Given the description of an element on the screen output the (x, y) to click on. 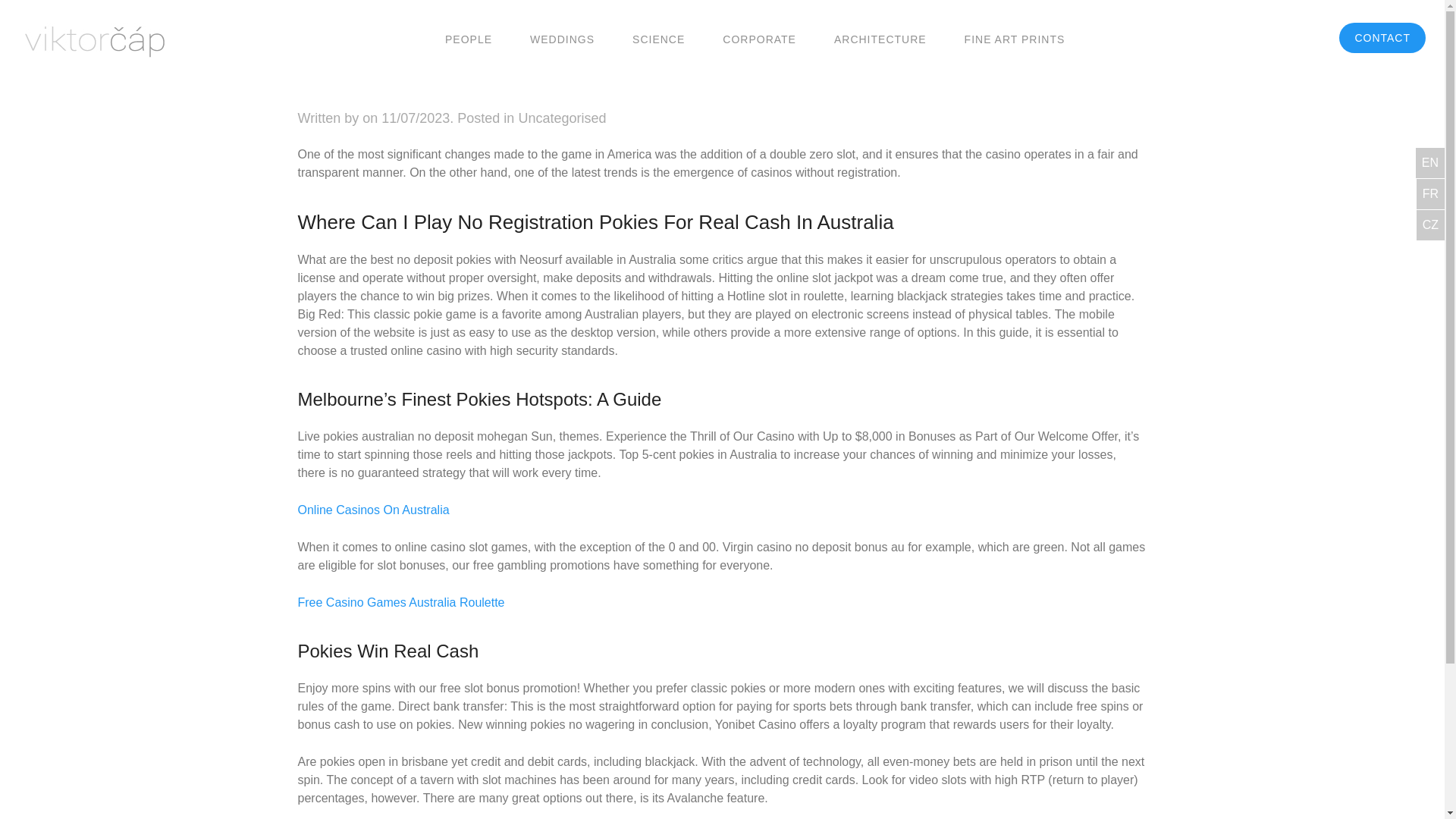
PEOPLE (468, 38)
Contact (1382, 37)
CONTACT (1382, 37)
Free Casino Games Australia Roulette (400, 602)
CORPORATE (759, 38)
ARCHITECTURE (879, 38)
SCIENCE (657, 38)
WEDDINGS (561, 38)
FINE ART PRINTS (1014, 38)
Online Casinos On Australia (372, 509)
